Given the description of an element on the screen output the (x, y) to click on. 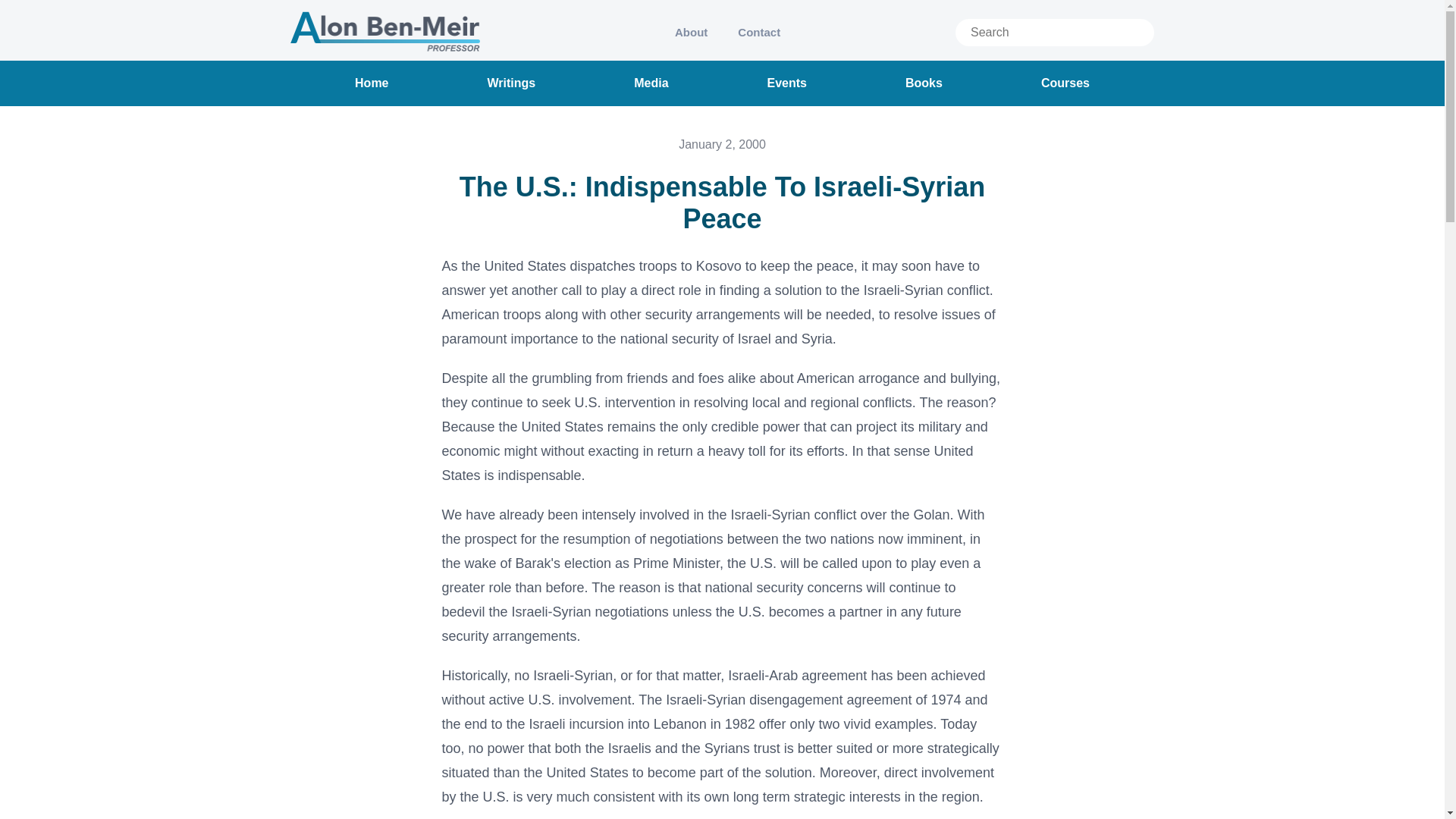
Events (786, 83)
Contact (758, 31)
About (690, 31)
Books (923, 83)
Writings (511, 83)
Home (371, 83)
Media (651, 83)
Courses (1064, 83)
